Given the description of an element on the screen output the (x, y) to click on. 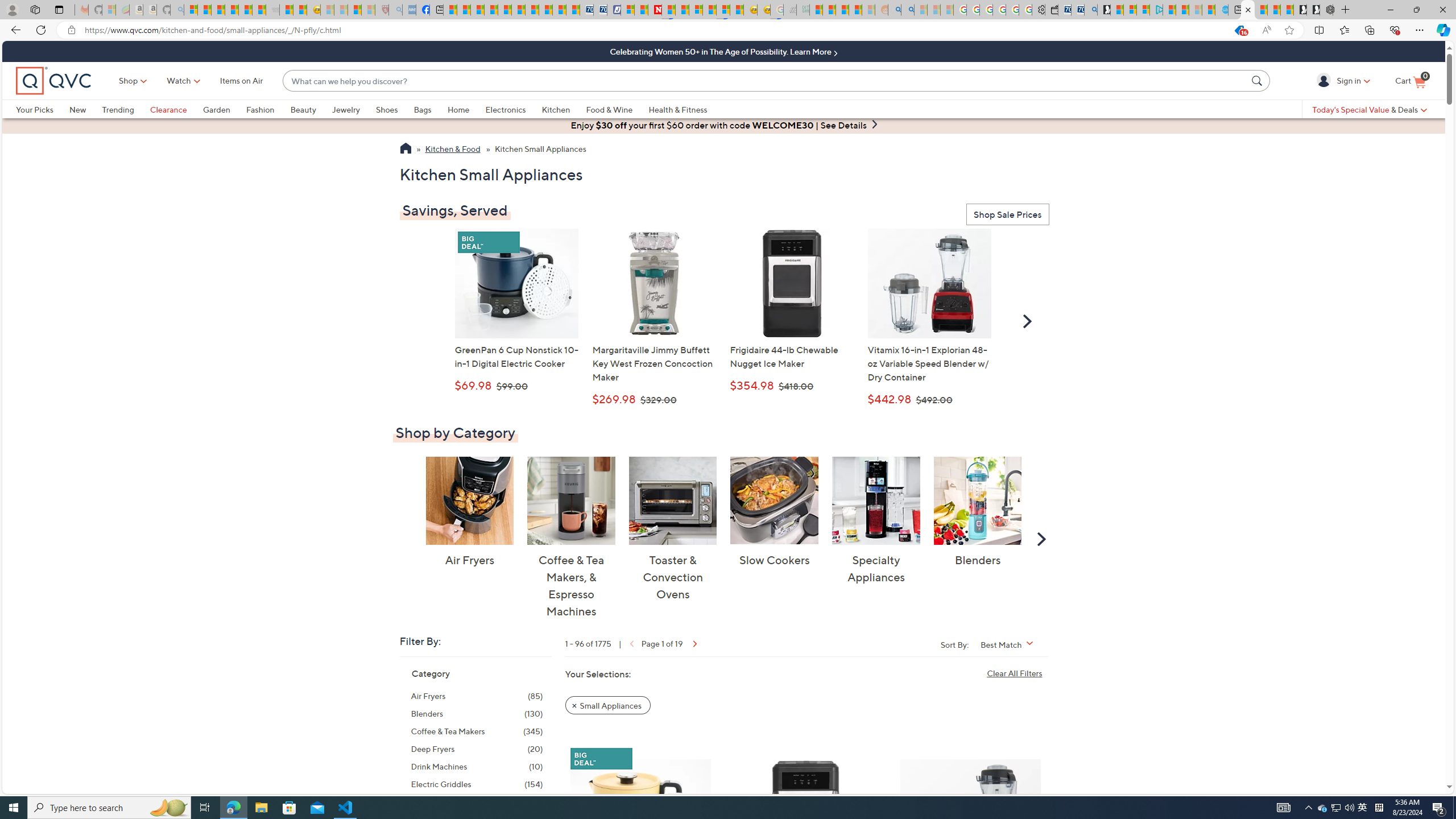
Small Appliances (607, 704)
Kitchen (555, 109)
Fashion (268, 109)
What can we help you discover? (764, 80)
Clear All Filters (1017, 672)
Food & Wine (617, 109)
